Given the description of an element on the screen output the (x, y) to click on. 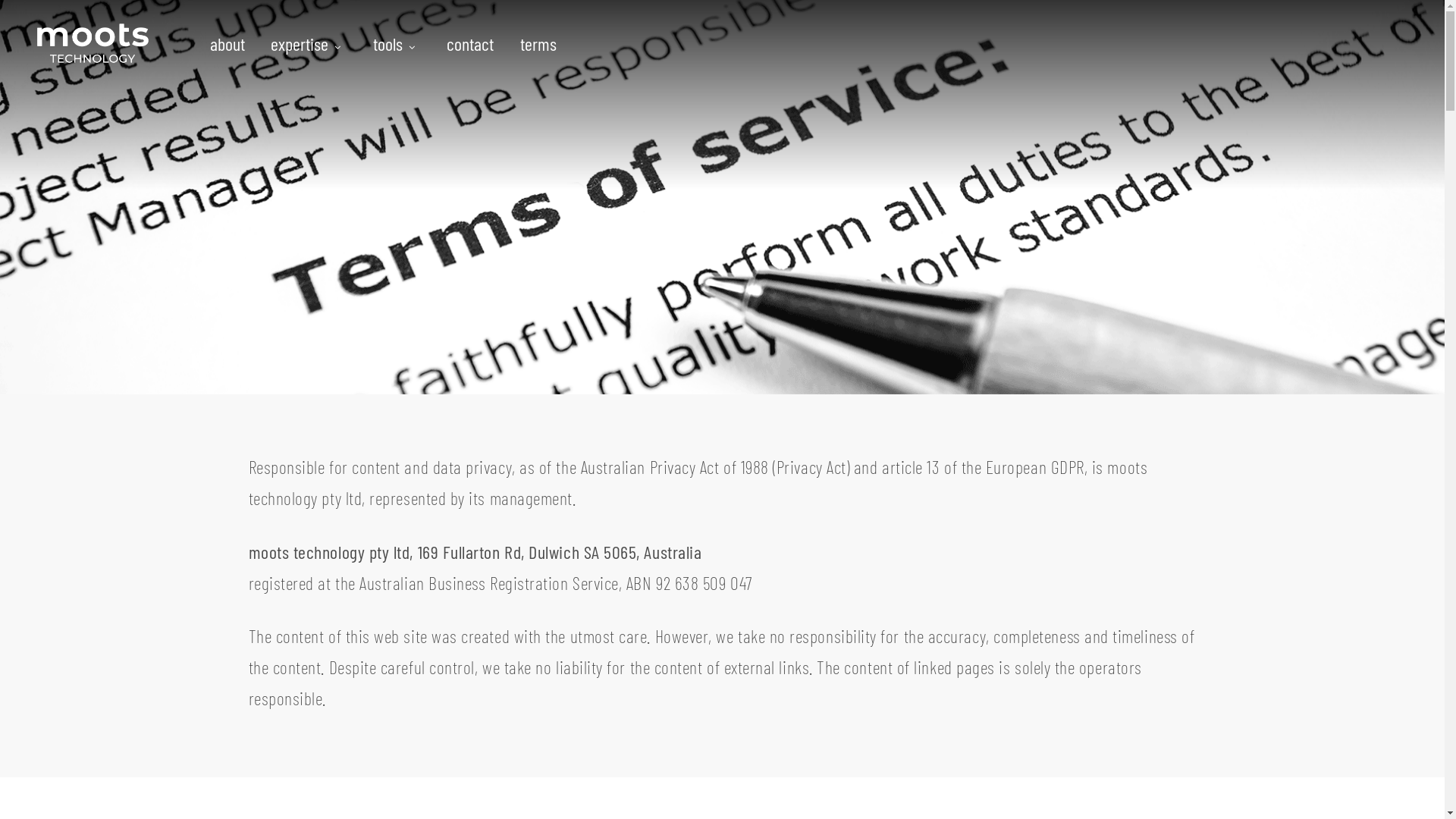
data privacy Element type: text (1099, 649)
terms of service Element type: text (1165, 649)
Toldu Element type: text (1015, 649)
Ted Element type: text (986, 649)
contact Element type: text (1050, 649)
cloud engineering Element type: text (842, 649)
about Element type: text (787, 649)
terms Element type: text (532, 43)
contact Element type: text (470, 43)
digital transformation Element type: text (927, 649)
tools Element type: text (396, 43)
expertise Element type: text (308, 43)
about Element type: text (233, 43)
moots technology Element type: hover (92, 43)
